Given the description of an element on the screen output the (x, y) to click on. 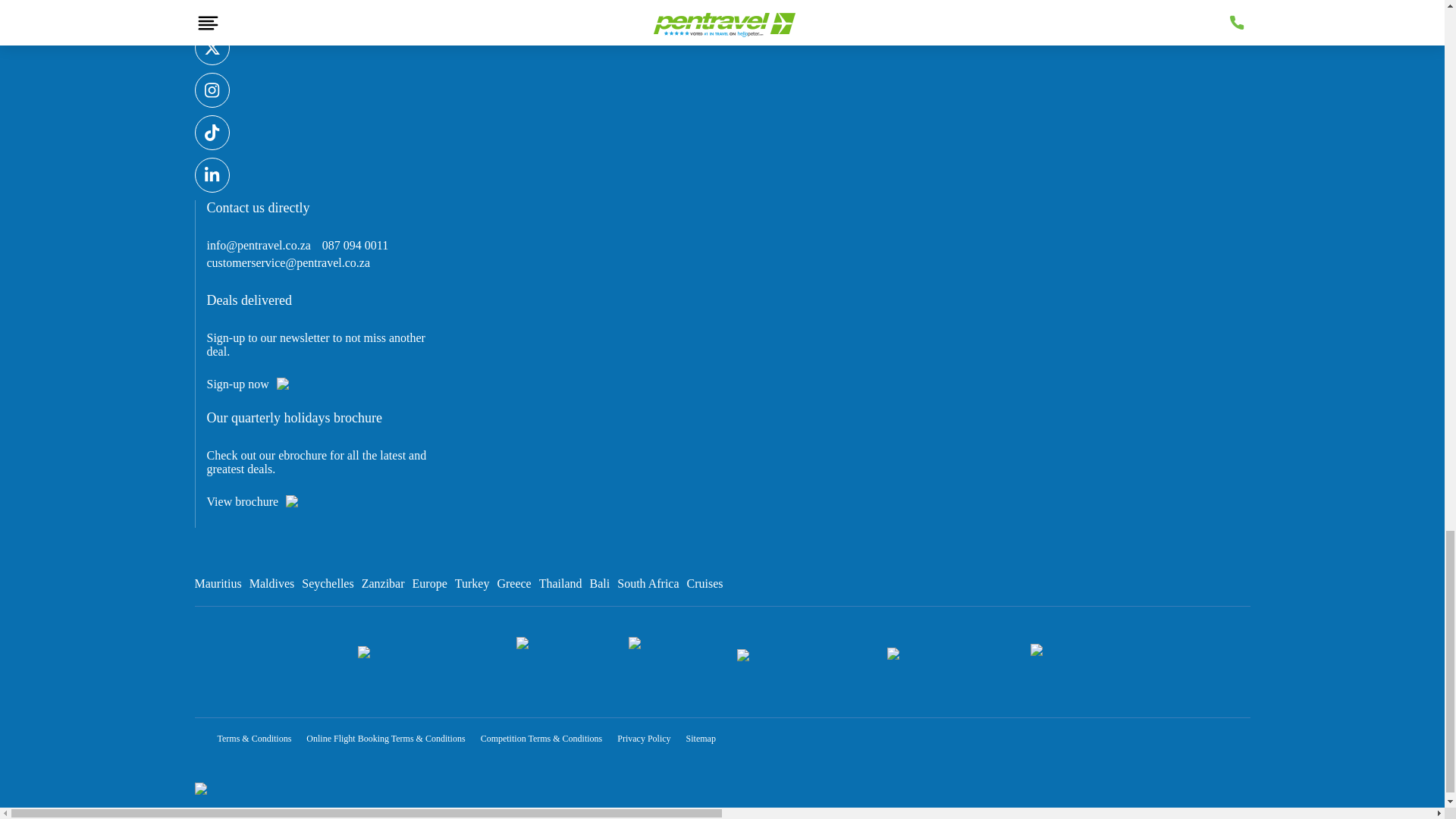
087 094 0011 (354, 245)
View brochure (245, 501)
Maldives (271, 583)
Thailand (560, 583)
Greece (513, 583)
Zanzibar (382, 583)
Bali (599, 583)
Europe (429, 583)
Turkey (471, 583)
Seychelles (327, 583)
